Given the description of an element on the screen output the (x, y) to click on. 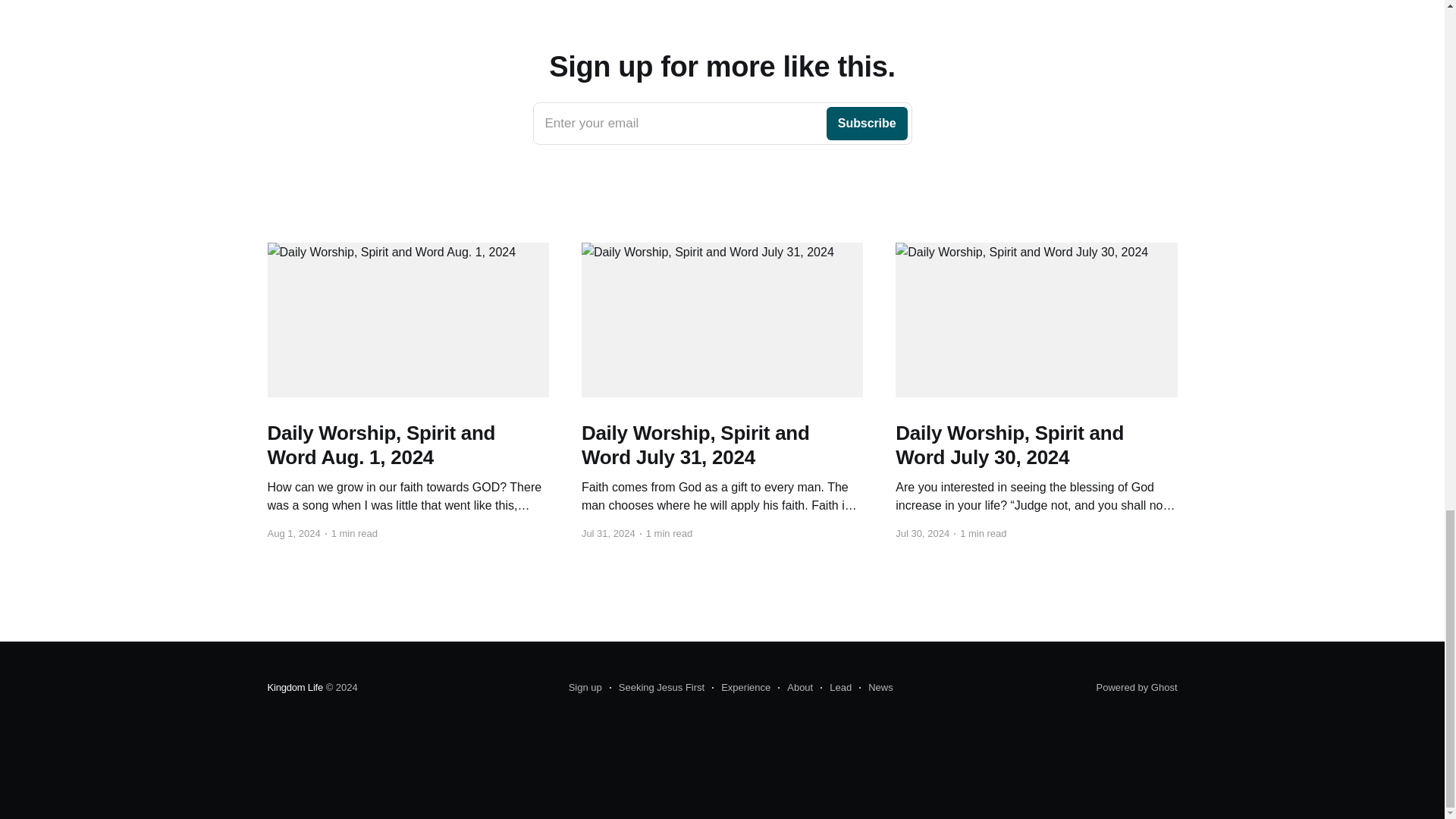
Seeking Jesus First (657, 687)
Kingdom Life (294, 686)
Powered by Ghost (1136, 686)
Lead (836, 687)
About (721, 123)
Experience (794, 687)
News (740, 687)
Sign up (876, 687)
